Given the description of an element on the screen output the (x, y) to click on. 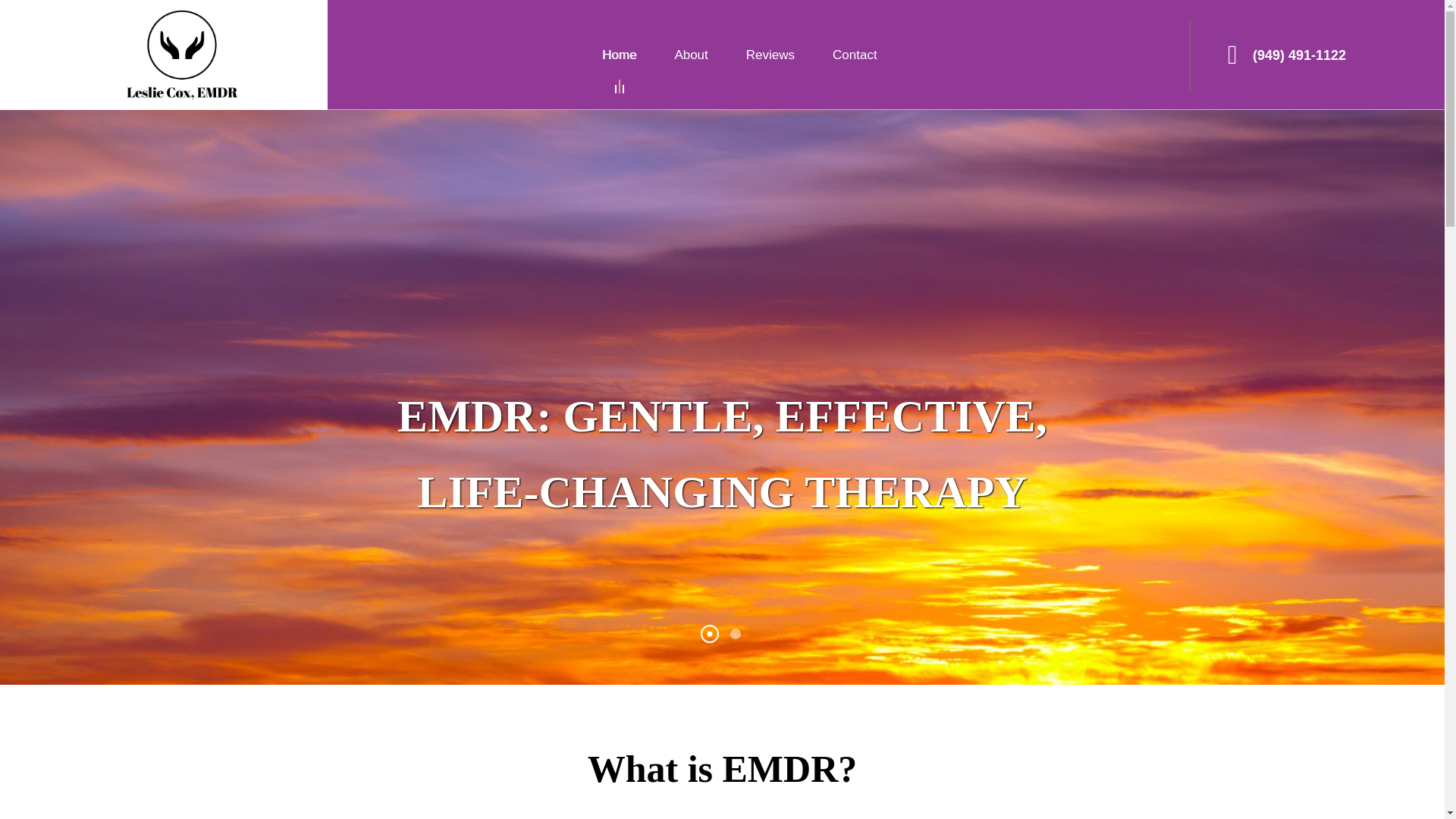
About (690, 55)
Contact (854, 55)
Reviews (769, 55)
Leslie Cox (184, 54)
Home (619, 55)
